Given the description of an element on the screen output the (x, y) to click on. 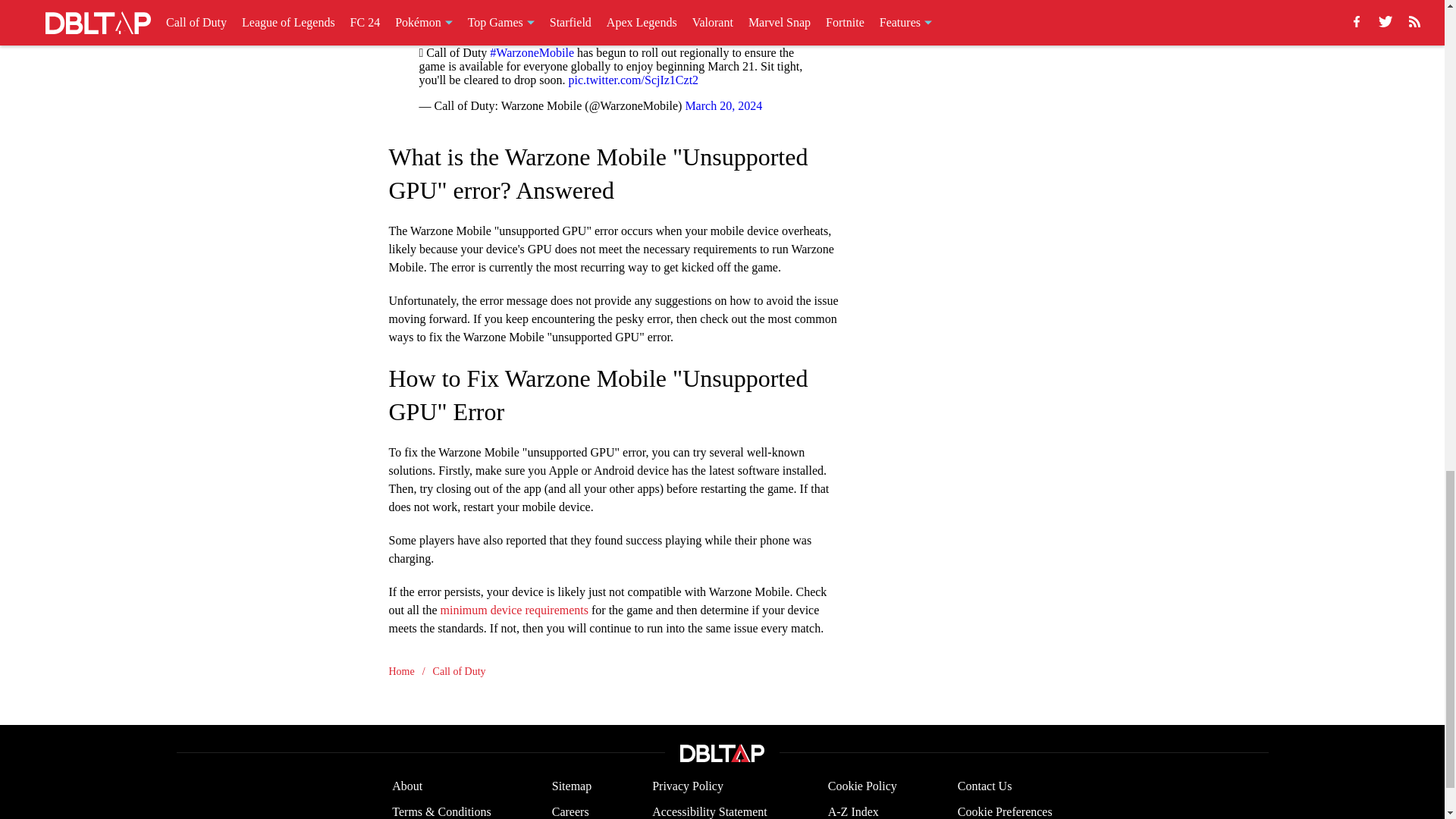
Home (400, 670)
About (406, 786)
minimum device requirements (513, 608)
Sitemap (571, 786)
Call of Duty (459, 670)
March 20, 2024 (722, 105)
